Given the description of an element on the screen output the (x, y) to click on. 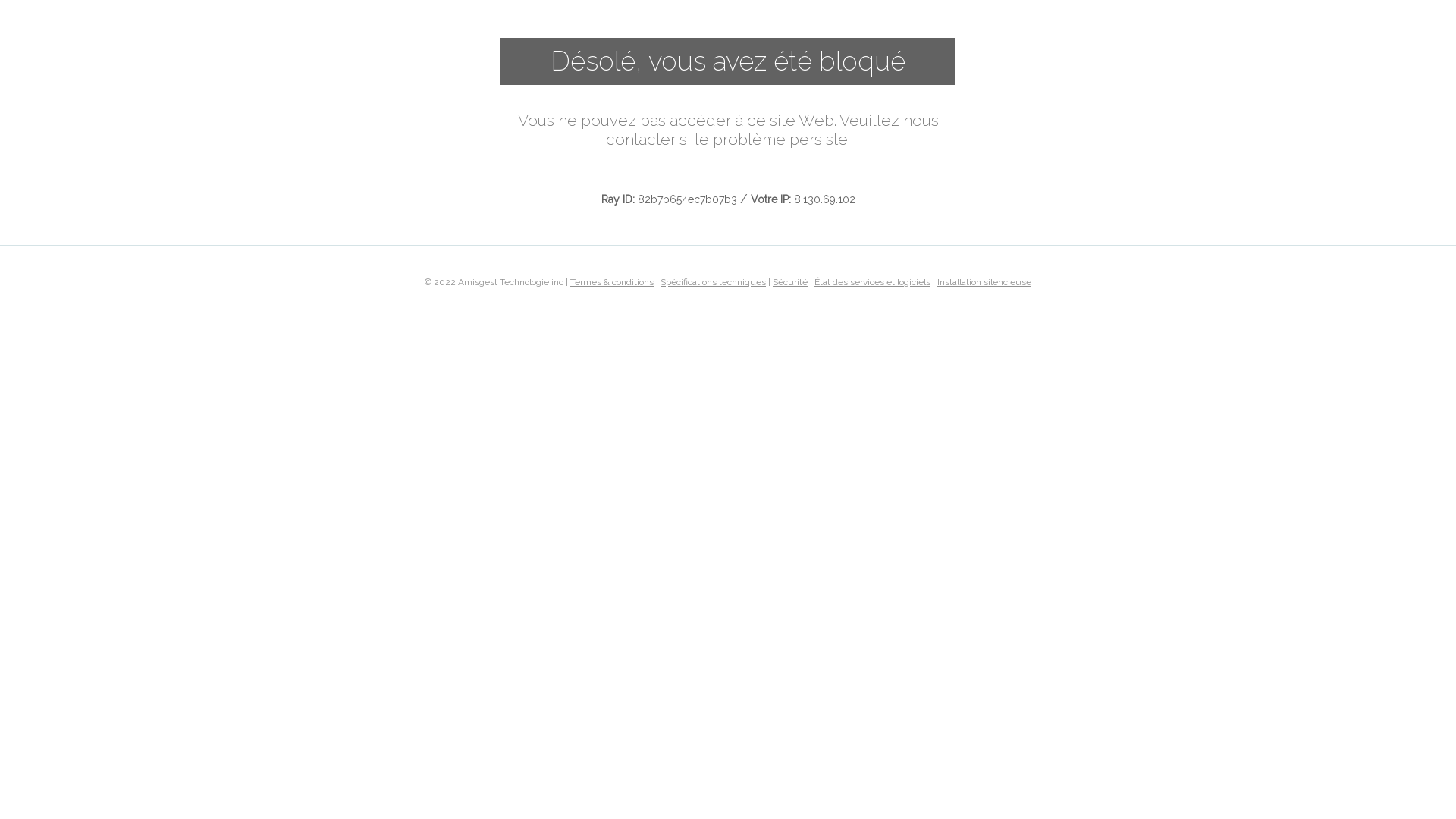
Termes & conditions Element type: text (611, 281)
Installation silencieuse Element type: text (984, 281)
